Given the description of an element on the screen output the (x, y) to click on. 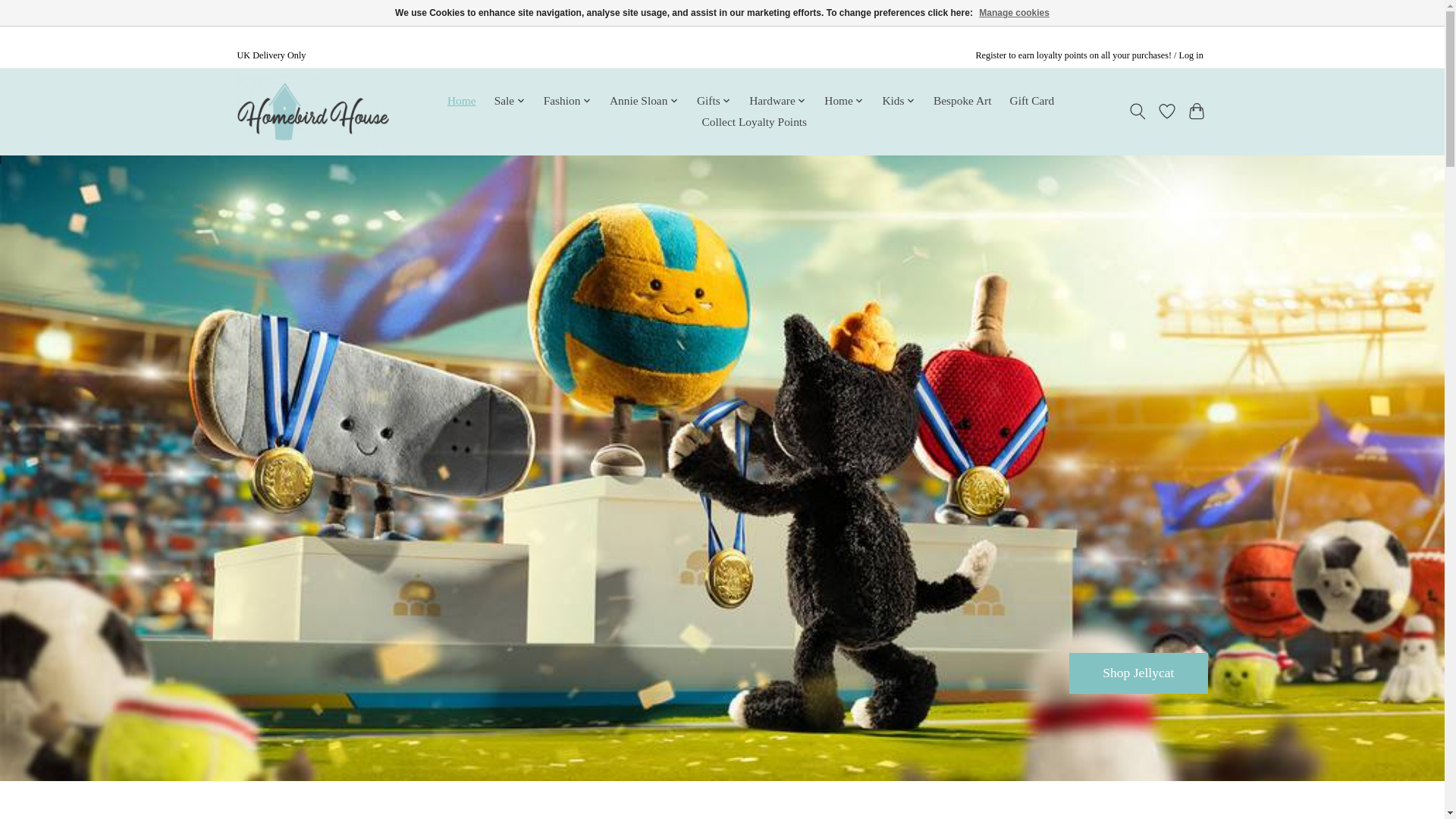
Sale (508, 101)
Home (461, 101)
Homebird House (311, 111)
Fashion (566, 101)
My account (1089, 55)
